Given the description of an element on the screen output the (x, y) to click on. 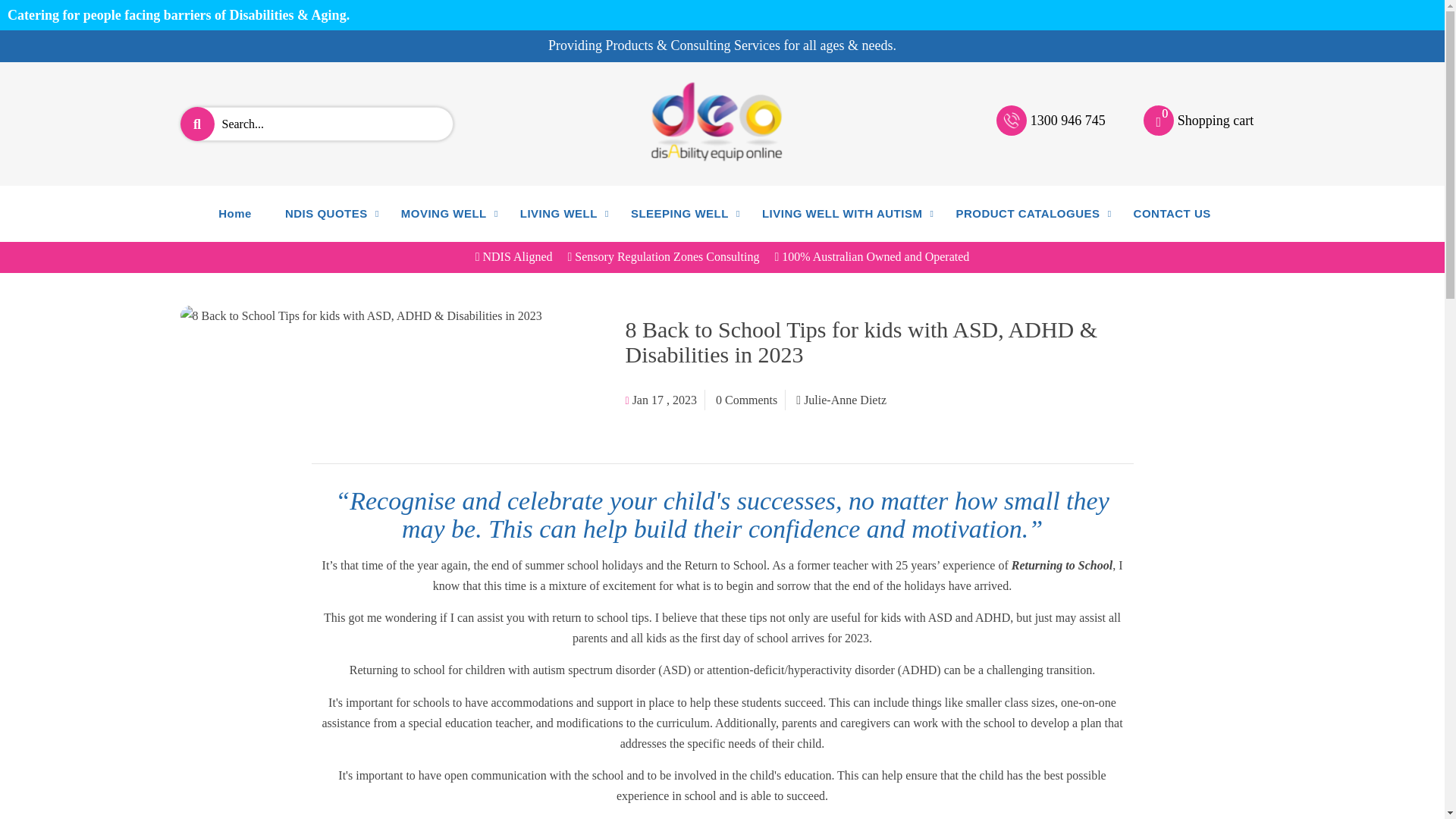
LIVING WELL (558, 213)
NDIS QUOTES (325, 213)
1300 946 745 (1157, 120)
MOVING WELL (1067, 120)
